Given the description of an element on the screen output the (x, y) to click on. 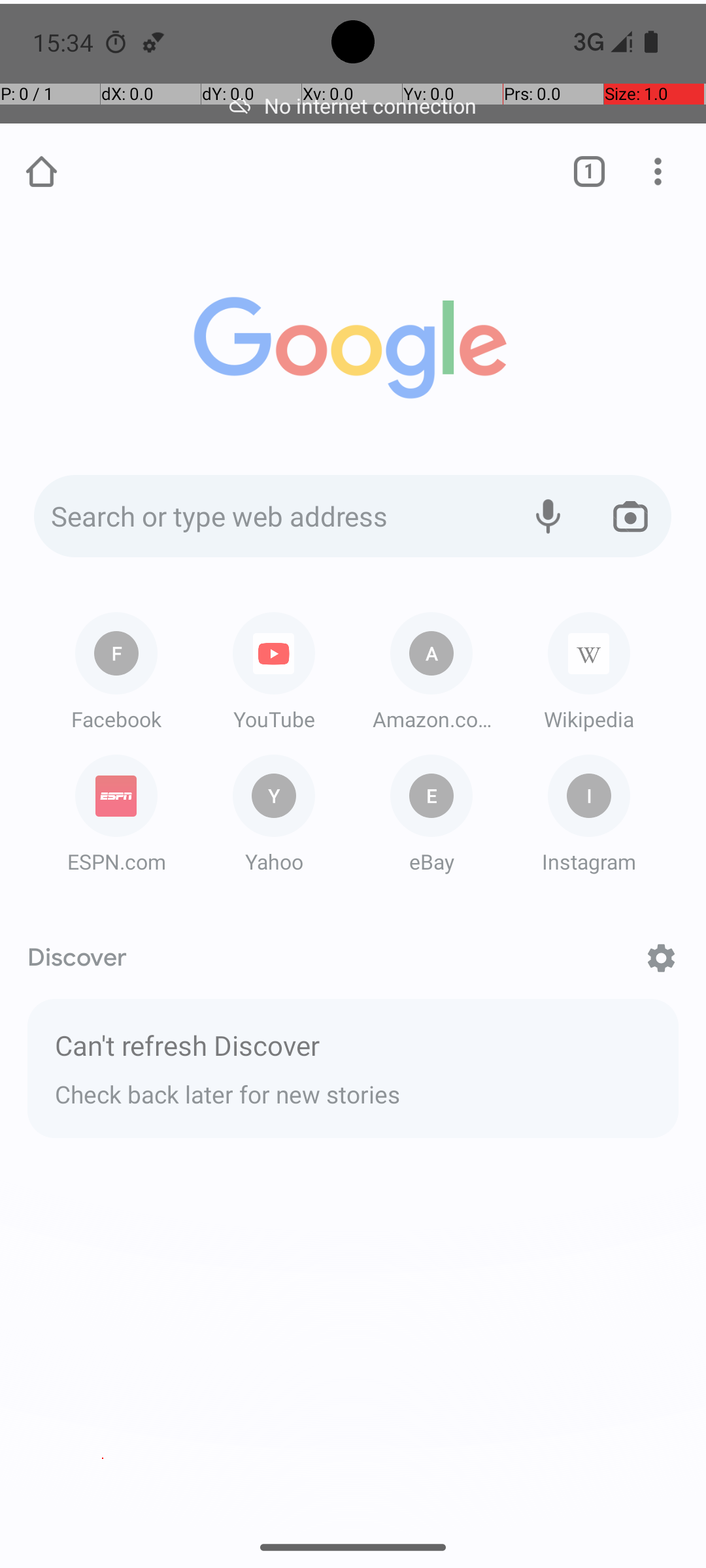
Android System notification: Wi‑Fi will turn on automatically Element type: android.widget.ImageView (153, 41)
